Given the description of an element on the screen output the (x, y) to click on. 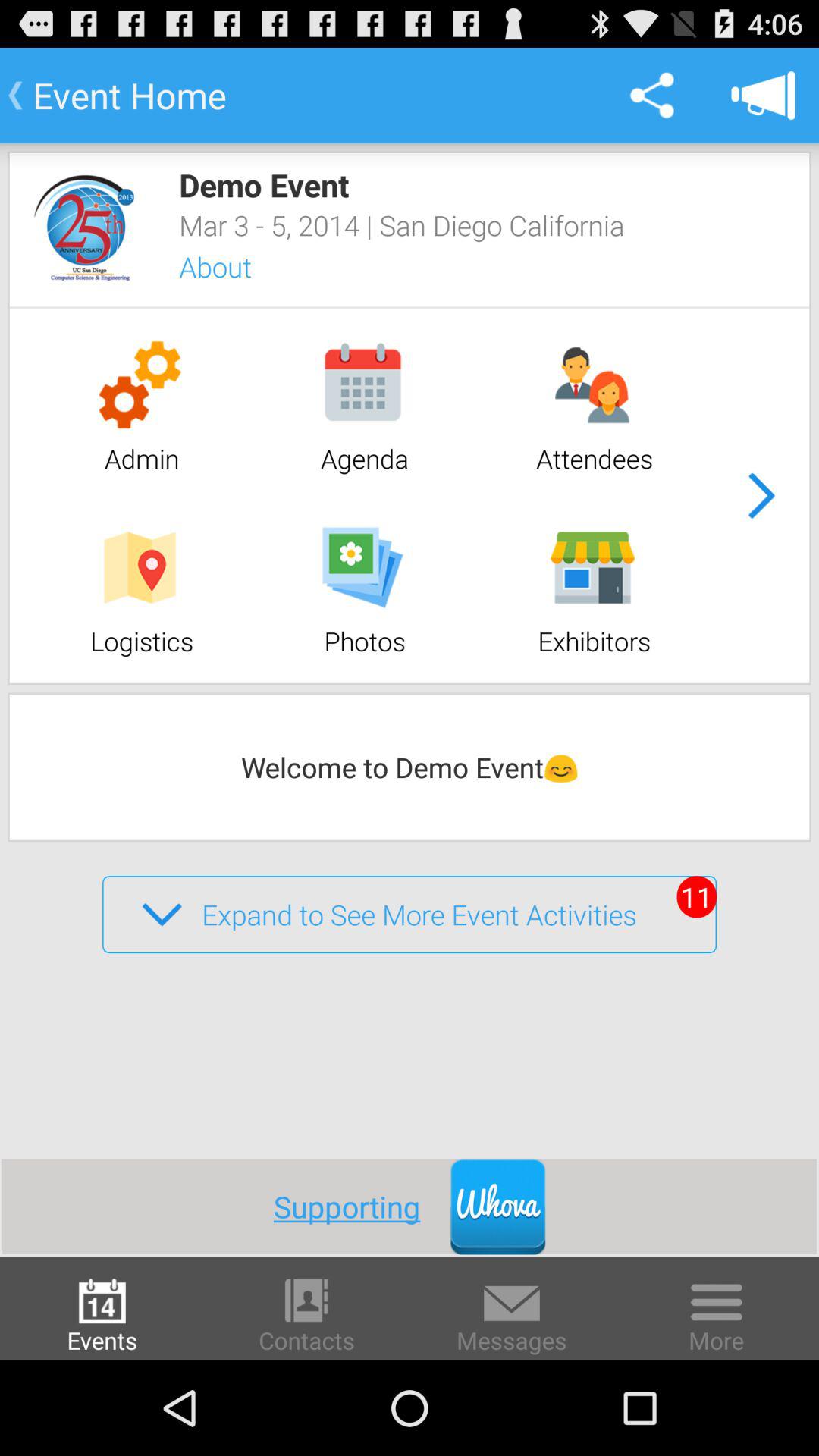
launch app below the event home item (84, 227)
